Given the description of an element on the screen output the (x, y) to click on. 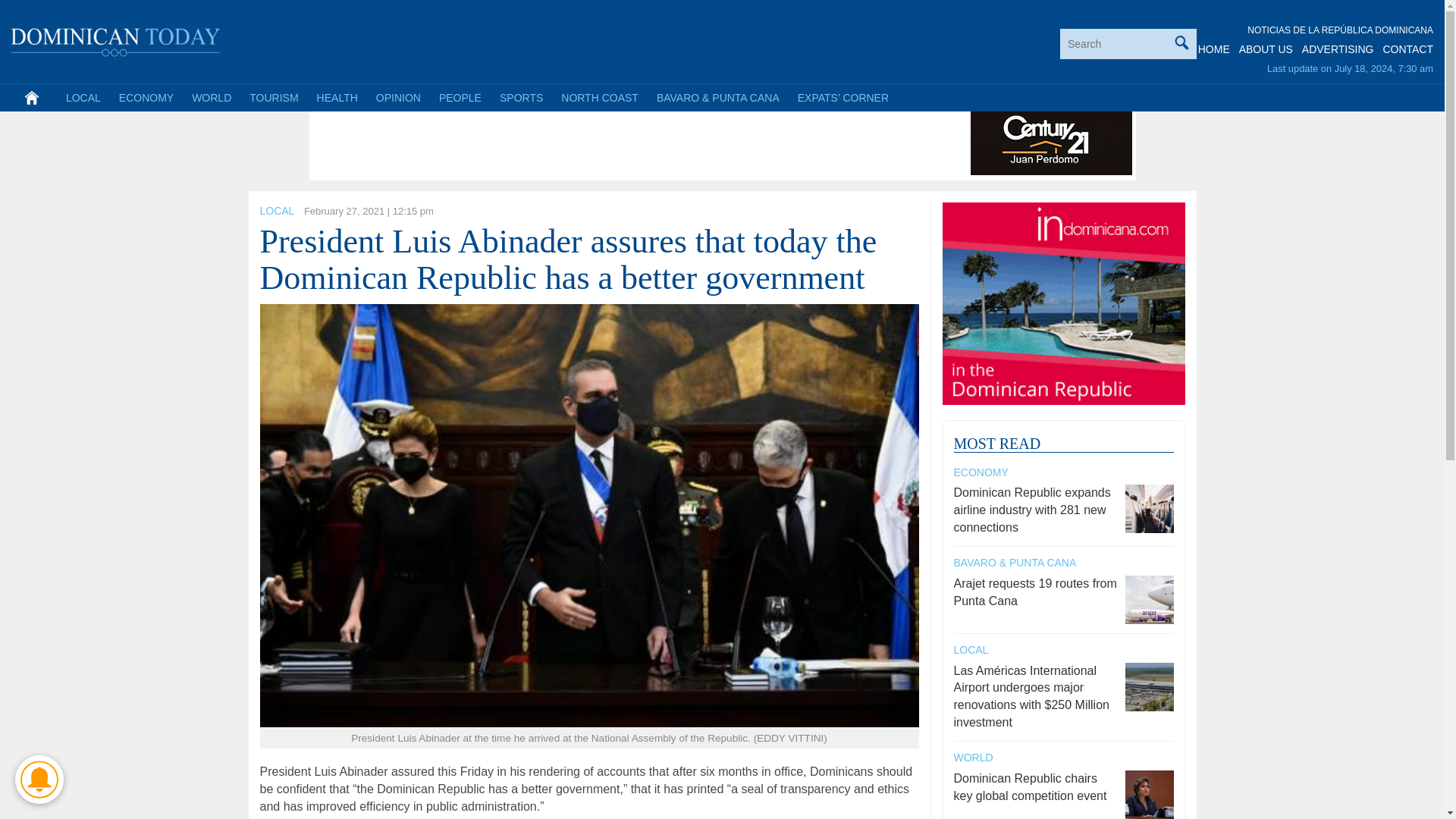
ECONOMY (981, 471)
TOURISM (273, 97)
OPINION (397, 97)
WORLD (211, 97)
Advertisement (589, 141)
ABOUT US (1265, 49)
HOME (1214, 49)
ADVERTISING (1337, 49)
PEOPLE (459, 97)
ECONOMY (146, 97)
LOCAL (276, 210)
NORTH COAST (599, 97)
CONTACT (1406, 49)
Dominican Today News - Santo Domingo and Dominican Republic (116, 38)
